Given the description of an element on the screen output the (x, y) to click on. 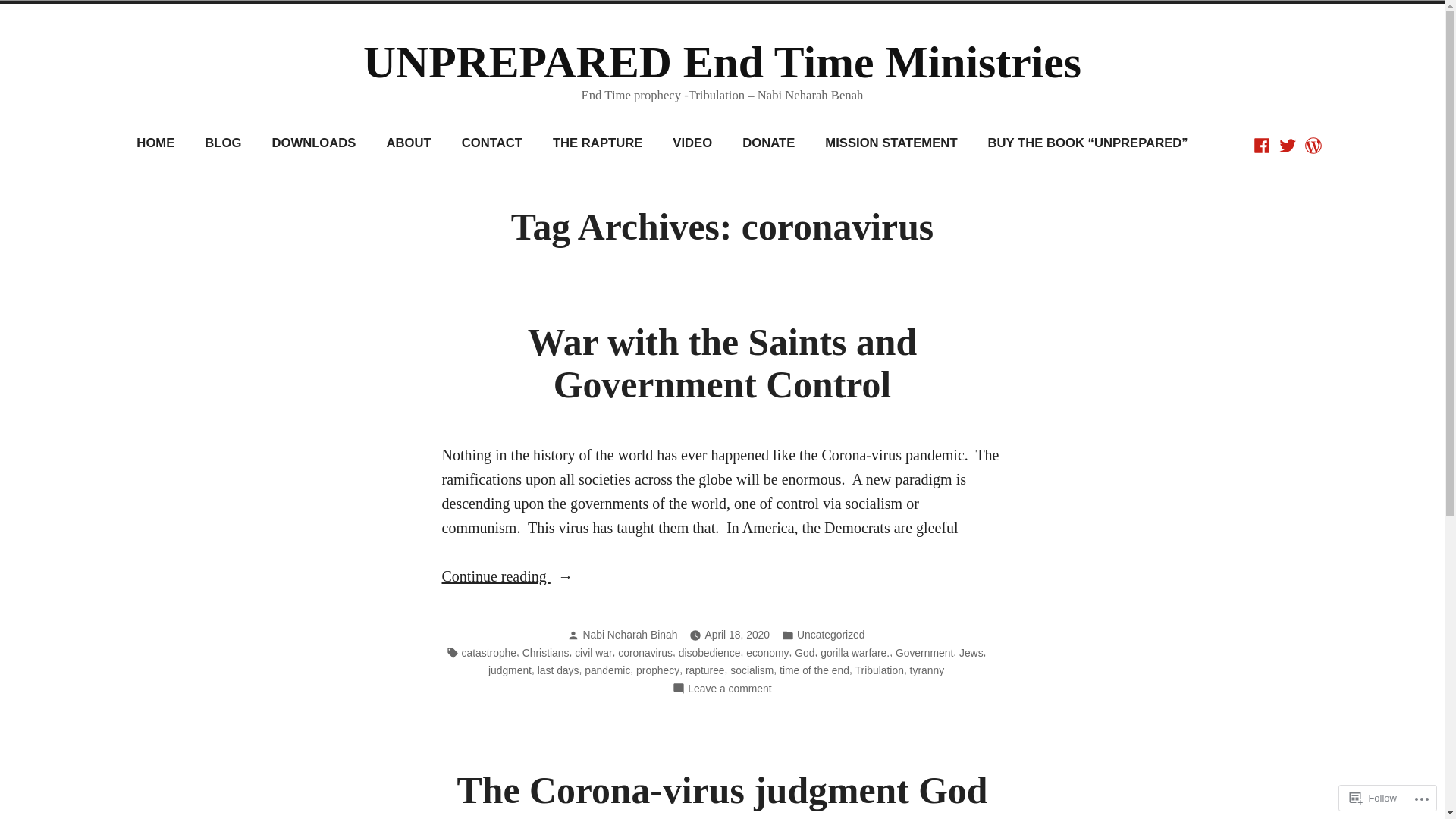
gorilla warfare. Element type: text (854, 652)
tyranny Element type: text (927, 670)
DOWNLOADS Element type: text (313, 143)
April 18, 2020 Element type: text (736, 634)
Uncategorized Element type: text (830, 634)
VIDEO Element type: text (692, 143)
judgment Element type: text (509, 670)
Follow Element type: text (1372, 797)
ABOUT Element type: text (407, 143)
BLOG Element type: text (222, 143)
DONATE Element type: text (768, 143)
rapturee Element type: text (704, 670)
MISSION STATEMENT Element type: text (890, 143)
economy Element type: text (767, 652)
time of the end Element type: text (814, 670)
War with the Saints and Government Control Element type: text (721, 363)
Government Element type: text (924, 652)
Continue reading Element type: text (721, 576)
Christians Element type: text (545, 652)
socialism Element type: text (751, 670)
disobedience Element type: text (709, 652)
coronavirus Element type: text (645, 652)
last days Element type: text (558, 670)
THE RAPTURE Element type: text (597, 143)
civil war Element type: text (592, 652)
Jews Element type: text (971, 652)
UNPREPARED End Time Ministries Element type: text (722, 62)
CONTACT Element type: text (491, 143)
Leave a comment Element type: text (729, 688)
Nabi Neharah Binah Element type: text (629, 634)
Tribulation Element type: text (879, 670)
HOME Element type: text (155, 143)
God Element type: text (804, 652)
catastrophe Element type: text (489, 652)
prophecy Element type: text (657, 670)
pandemic Element type: text (607, 670)
